Given the description of an element on the screen output the (x, y) to click on. 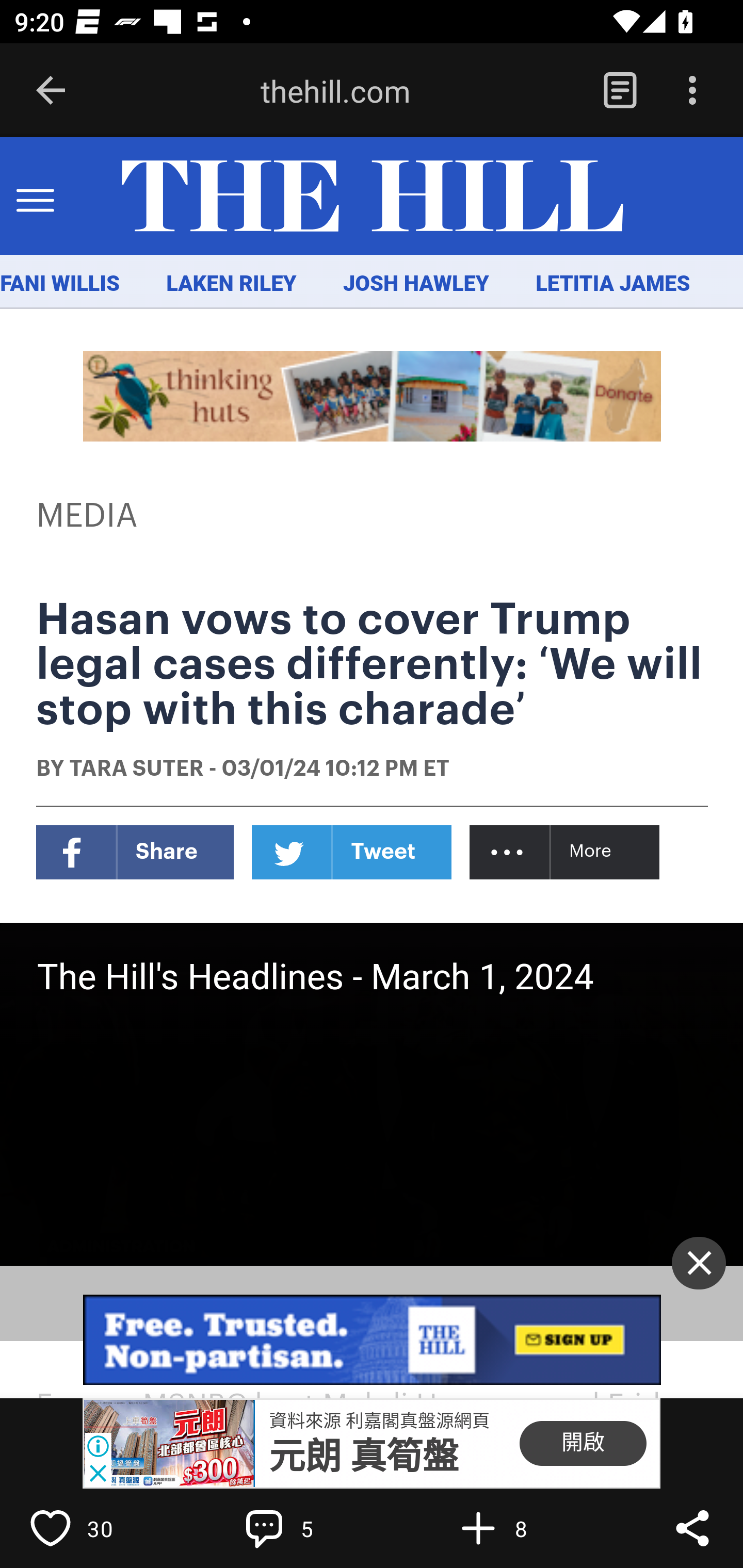
Back (50, 90)
Reader View (619, 90)
Options (692, 90)
Toggle Menu (34, 196)
TheHill.com (371, 196)
FANI WILLIS (60, 284)
LAKEN RILEY (231, 284)
JOSH HAWLEY (414, 284)
LETITIA JAMES (612, 284)
Advertisement (372, 395)
MEDIA (87, 516)
TARA SUTER (135, 769)
Facebook Share Facebook Share (135, 852)
Twitter Tweet Twitter Tweet (352, 852)
... More (565, 852)
✕ (699, 1262)
signup (372, 1339)
B29955179 (168, 1443)
資料來源 利嘉閣真盤源網頁 (379, 1420)
開啟 (582, 1443)
元朗 真筍盤 (363, 1456)
Like 30 (93, 1528)
Write a comment… 5 (307, 1528)
Flip into Magazine 8 (521, 1528)
Share (692, 1528)
